Given the description of an element on the screen output the (x, y) to click on. 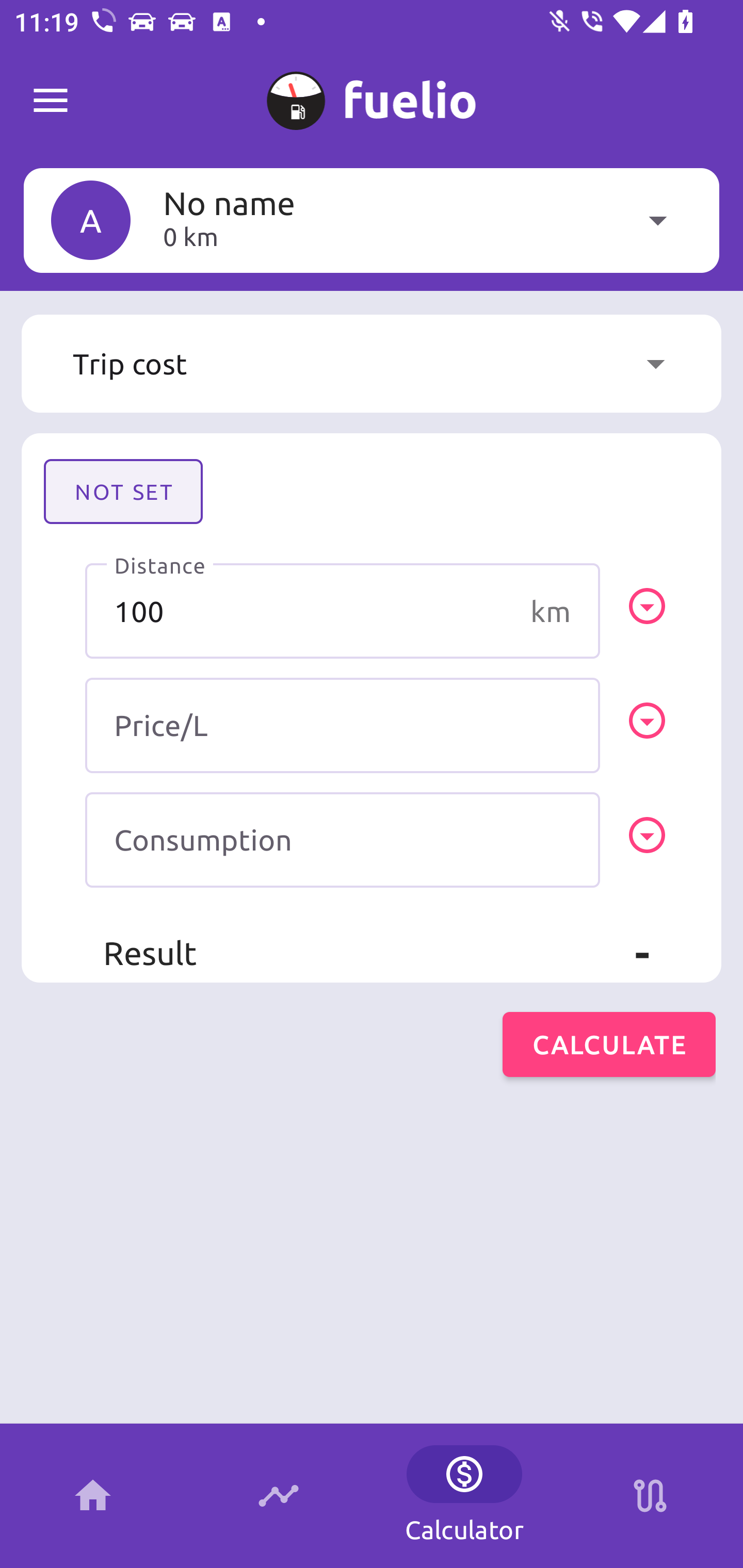
Fuelio (50, 101)
A No name 0 km (371, 219)
Trip cost (371, 363)
Show dropdown menu (655, 363)
NOT SET (122, 491)
100 (342, 610)
Price/L (342, 725)
Consumption (342, 839)
CALCULATE (608, 1044)
Home (92, 1495)
Timeline (278, 1495)
Stations on route (650, 1495)
